Given the description of an element on the screen output the (x, y) to click on. 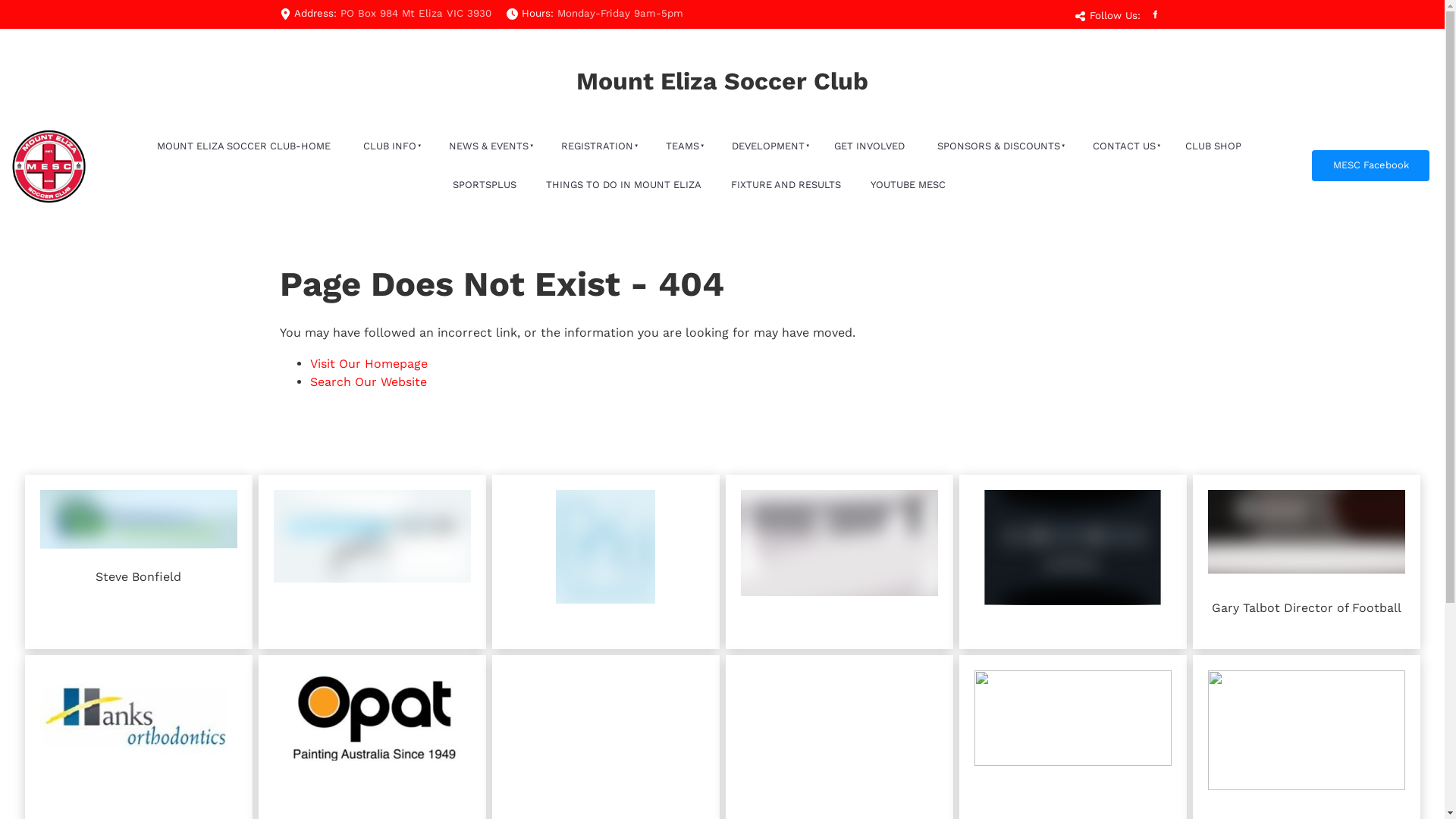
NEWS & EVENTS Element type: text (486, 146)
SPORTSPLUS Element type: text (483, 185)
REGISTRATION Element type: text (594, 146)
Search Our Website Element type: text (367, 381)
Facebook Element type: hover (1153, 14)
Gary Talbot Director of Football Element type: text (1305, 561)
CLUB SHOP Element type: text (1212, 146)
DEVELOPMENT Element type: text (766, 146)
GET INVOLVED Element type: text (869, 146)
YOUTUBE MESC Element type: text (907, 185)
THINGS TO DO IN MOUNT ELIZA Element type: text (622, 185)
SPONSORS & DISCOUNTS Element type: text (996, 146)
TEAMS Element type: text (680, 146)
Visit Our Homepage Element type: text (367, 363)
MOUNT ELIZA SOCCER CLUB-HOME Element type: text (243, 146)
CLUB INFO Element type: text (387, 146)
MESC Facebook Element type: text (1370, 165)
FIXTURE AND RESULTS Element type: text (785, 185)
Steve Bonfield Element type: text (137, 561)
CONTACT US Element type: text (1122, 146)
